Given the description of an element on the screen output the (x, y) to click on. 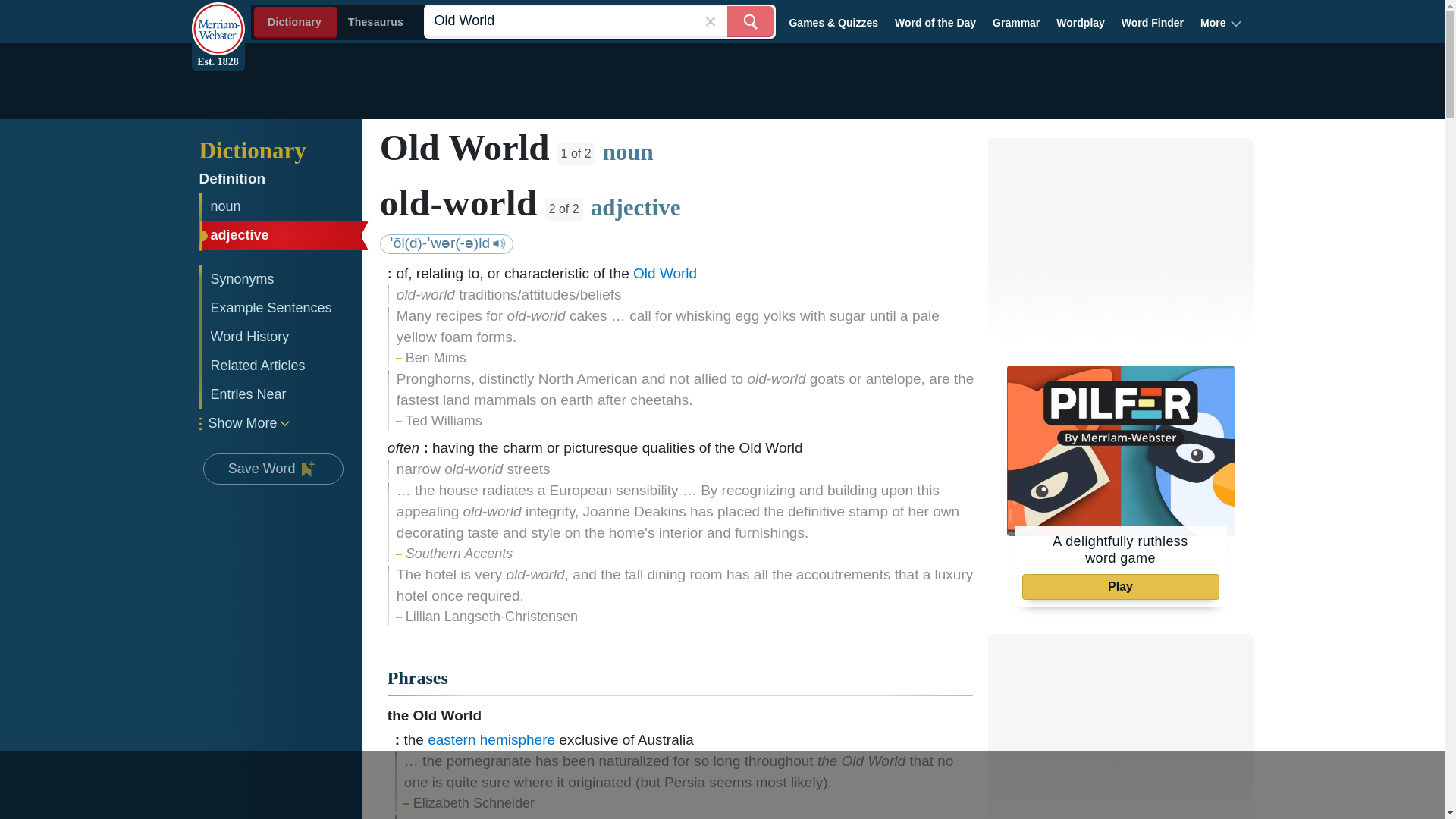
Dictionary (283, 150)
Old World (599, 20)
Search (749, 20)
Old World (599, 20)
Wordplay (1080, 22)
Word Finder (1153, 22)
Synonyms (280, 279)
Merriam Webster - established 1828 (217, 19)
Word of the Day (935, 22)
noun (280, 206)
